Given the description of an element on the screen output the (x, y) to click on. 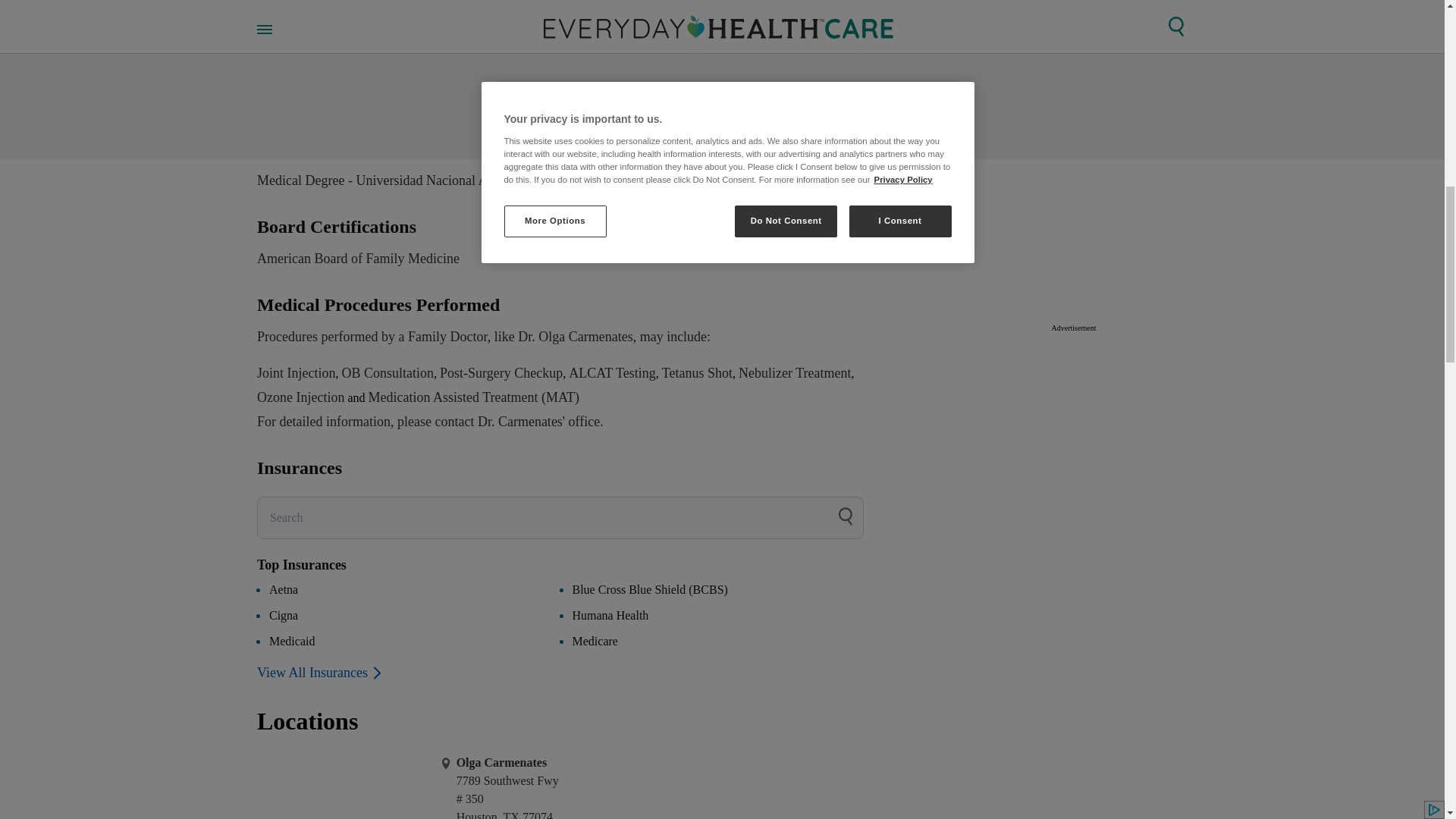
Nebulizer Treatment (794, 372)
Joint Injection (295, 372)
Tetanus Shot (697, 372)
Post-Surgery Checkup (500, 372)
OB Consultation (560, 244)
Ozone Injection (386, 372)
ALCAT Testing (300, 396)
